Given the description of an element on the screen output the (x, y) to click on. 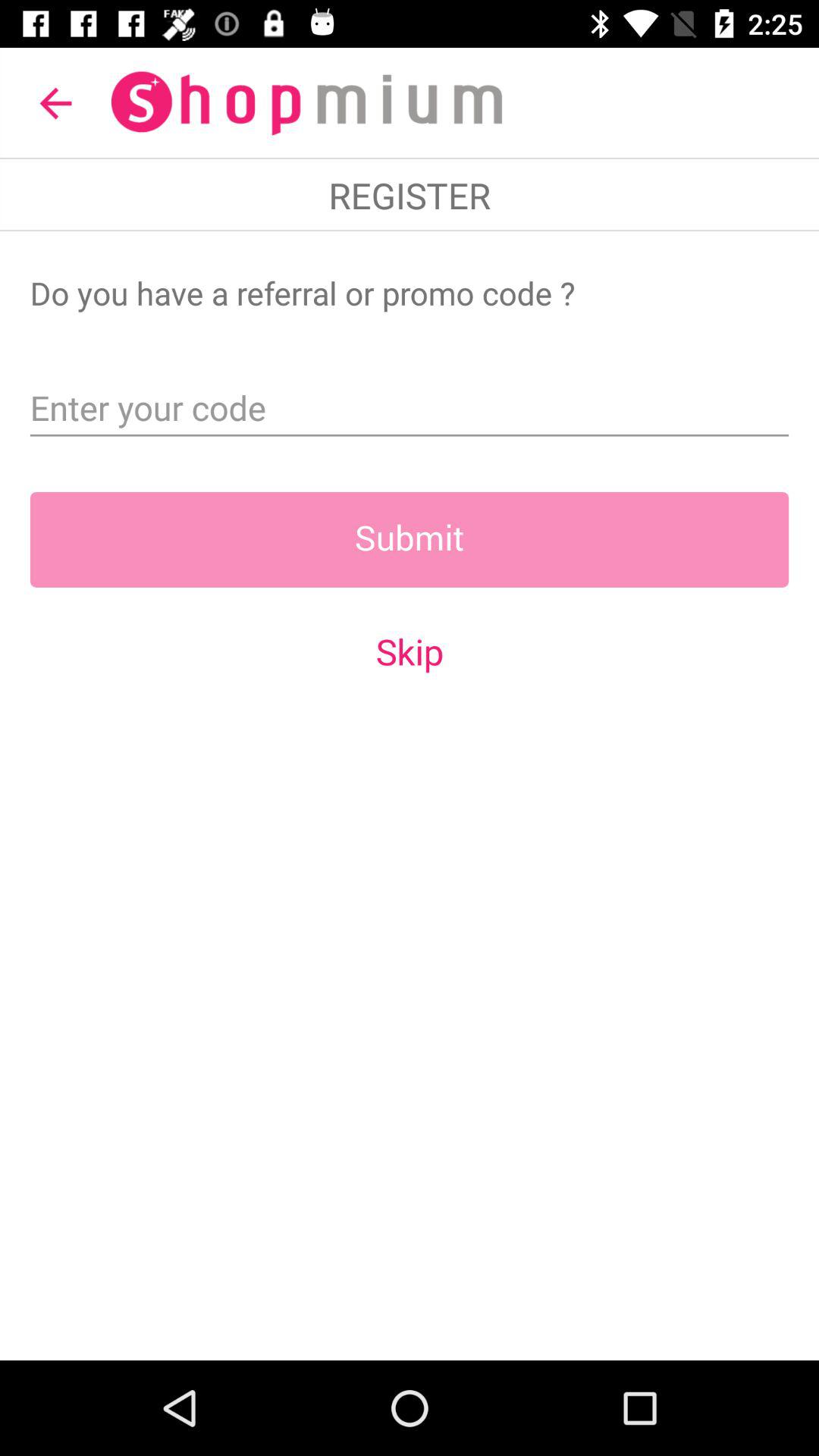
scroll to the skip icon (409, 651)
